Given the description of an element on the screen output the (x, y) to click on. 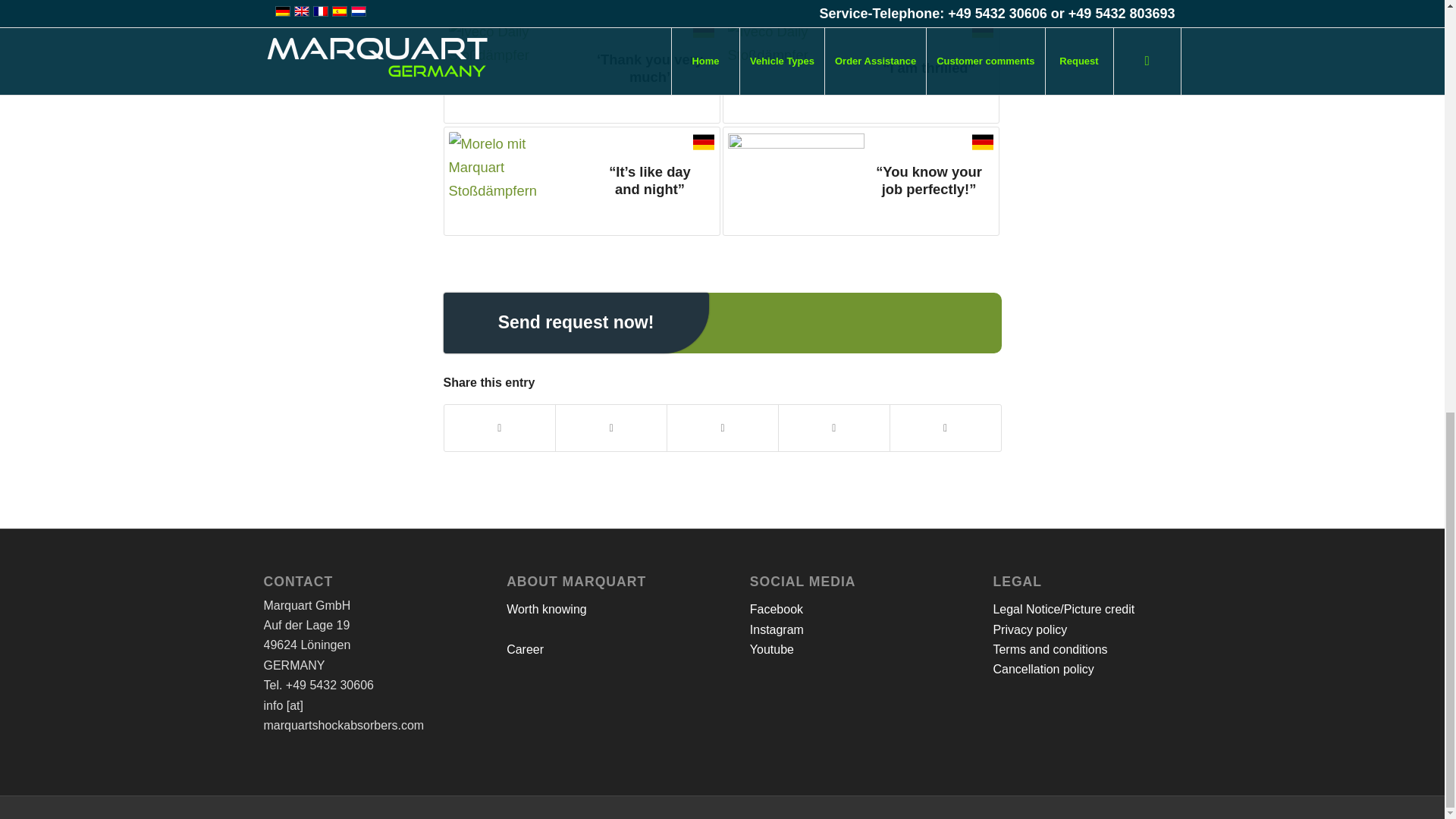
Send request now! (574, 322)
Iveco Daily Marquart Stossdaempfer q (516, 68)
22799 q (796, 68)
